Given the description of an element on the screen output the (x, y) to click on. 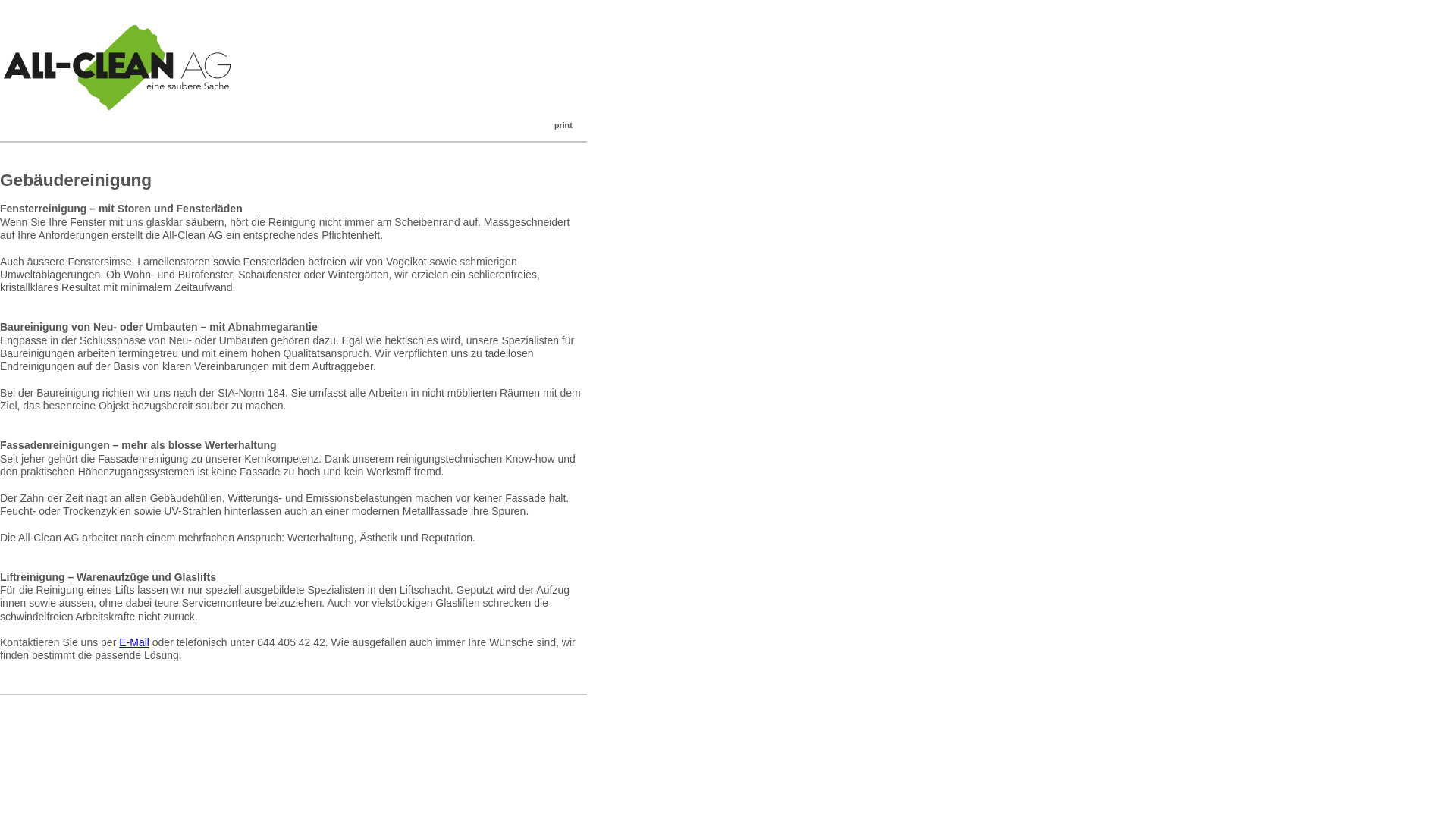
E-Mail Element type: text (134, 642)
print Element type: text (551, 128)
